Given the description of an element on the screen output the (x, y) to click on. 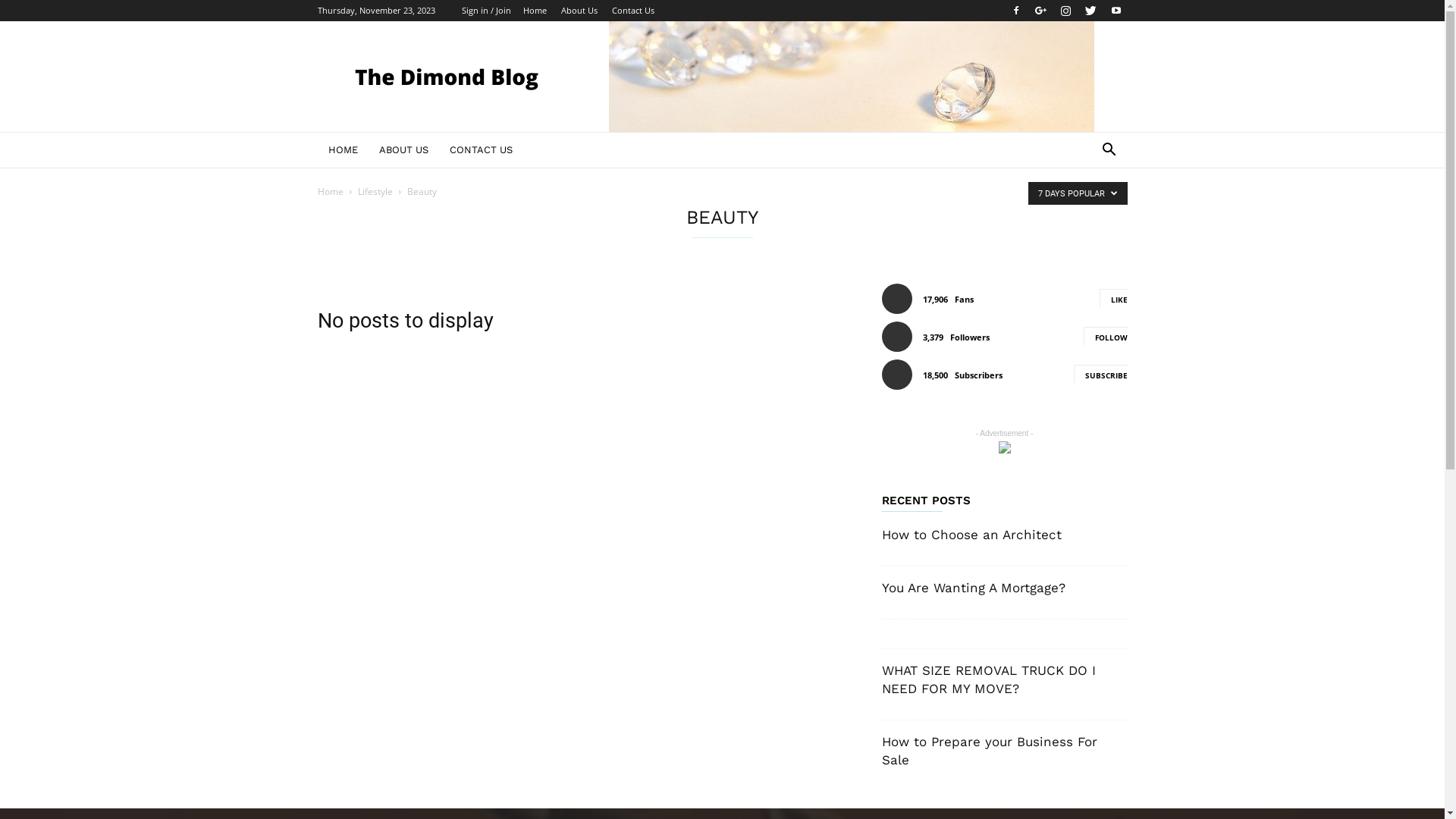
SUBSCRIBE Element type: text (1100, 373)
Contact Us Element type: text (632, 9)
How to Prepare your Business For Sale Element type: text (988, 750)
How to Choose an Architect Element type: text (970, 534)
Facebook Element type: hover (1015, 10)
Home Element type: text (534, 9)
LIKE Element type: text (1113, 297)
WHAT SIZE REMOVAL TRUCK DO I NEED FOR MY MOVE? Element type: text (988, 679)
CONTACT US Element type: text (480, 149)
ABOUT US Element type: text (403, 149)
FOLLOW Element type: text (1104, 335)
Youtube Element type: hover (1115, 10)
HOME Element type: text (341, 149)
Search Element type: text (1085, 210)
Google+ Element type: hover (1040, 10)
Sign in / Join Element type: text (485, 9)
Instagram Element type: hover (1065, 10)
Lifestyle Element type: text (374, 191)
You Are Wanting A Mortgage? Element type: text (972, 587)
Home Element type: text (329, 191)
About Us Element type: text (579, 9)
Twitter Element type: hover (1090, 10)
